Given the description of an element on the screen output the (x, y) to click on. 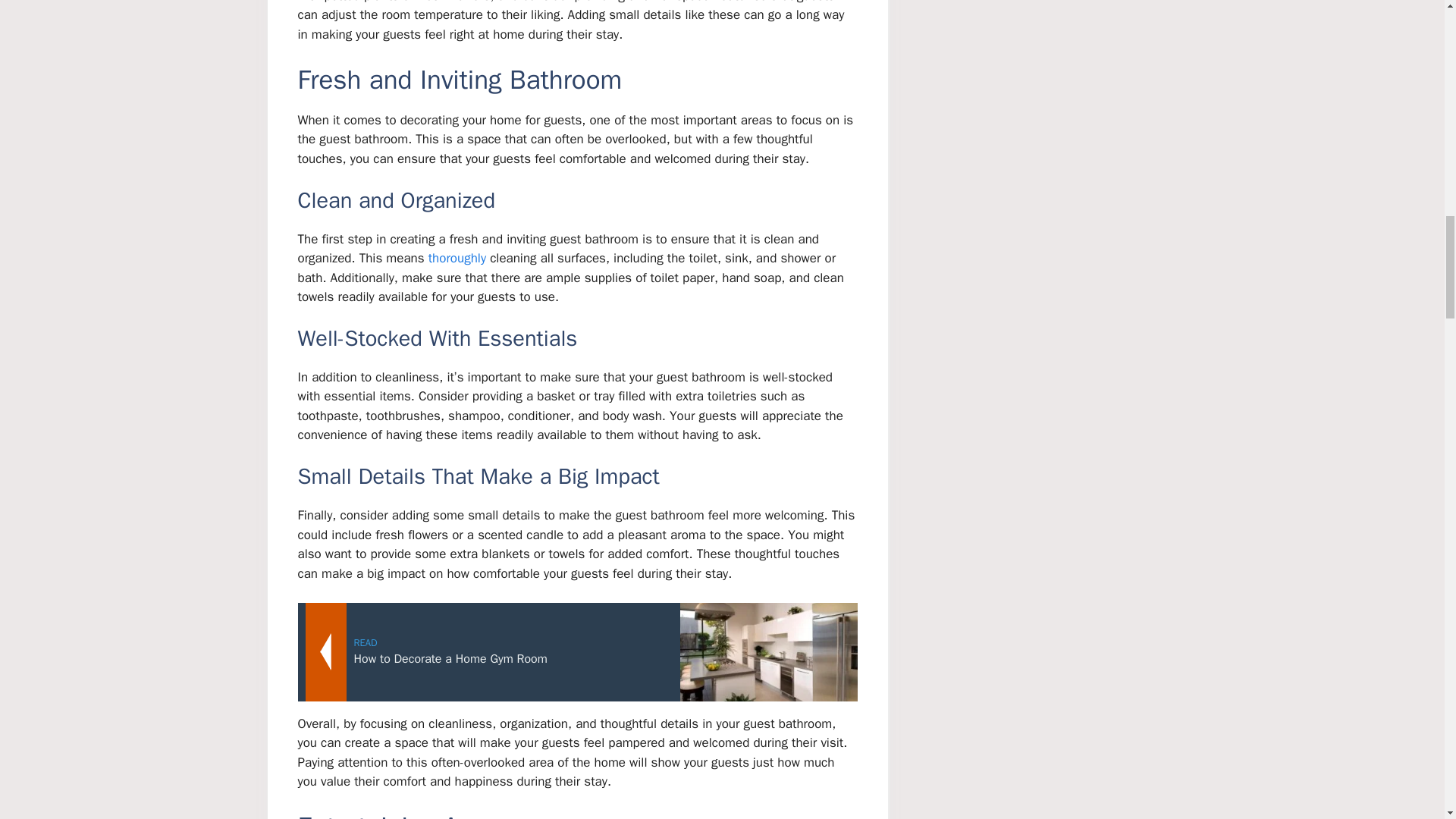
thoroughly (457, 258)
